Given the description of an element on the screen output the (x, y) to click on. 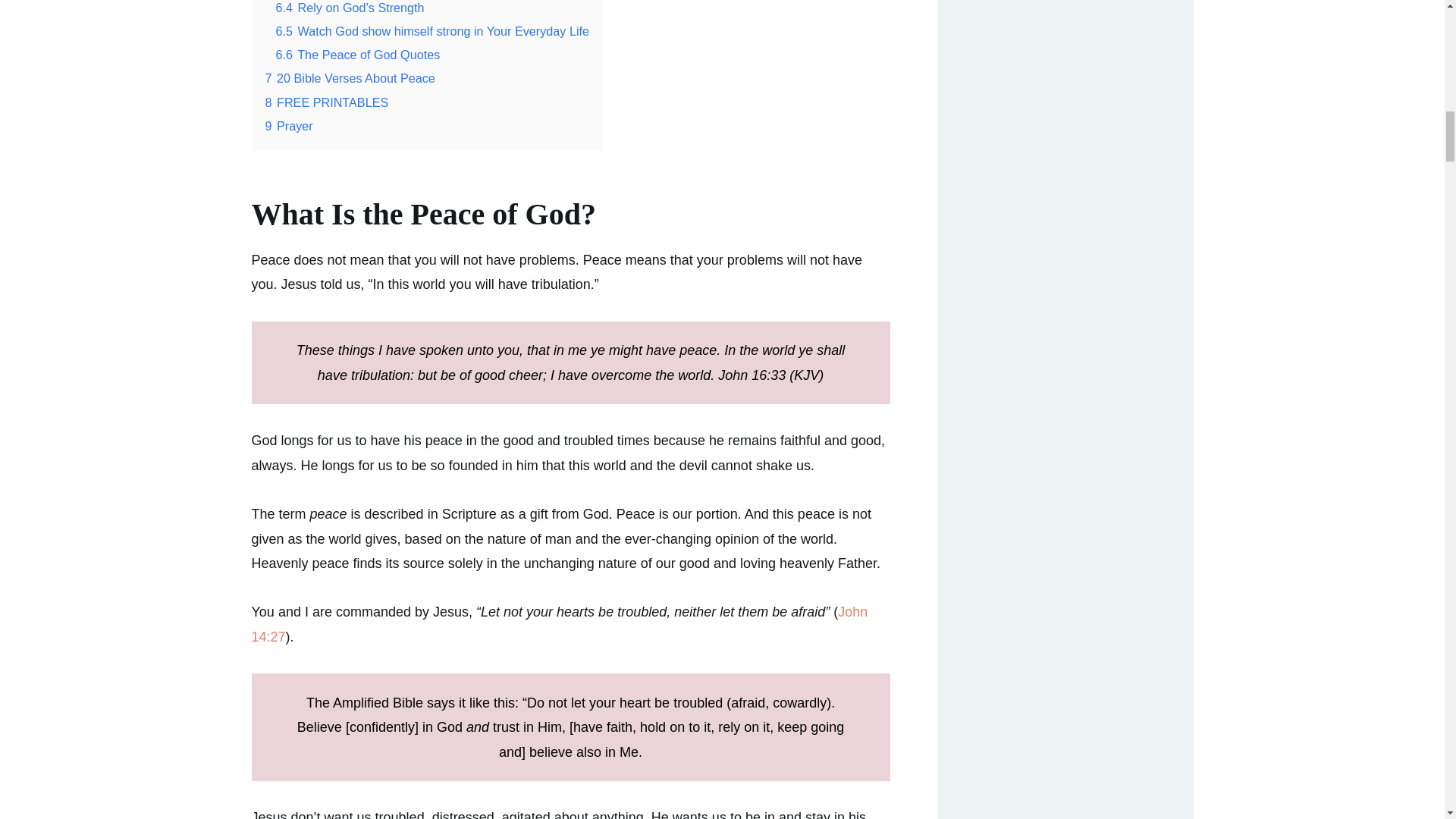
6.5 Watch God show himself strong in Your Everyday Life (432, 30)
6.6 The Peace of God Quotes (358, 54)
8 FREE PRINTABLES (326, 101)
7 20 Bible Verses About Peace (349, 78)
